Given the description of an element on the screen output the (x, y) to click on. 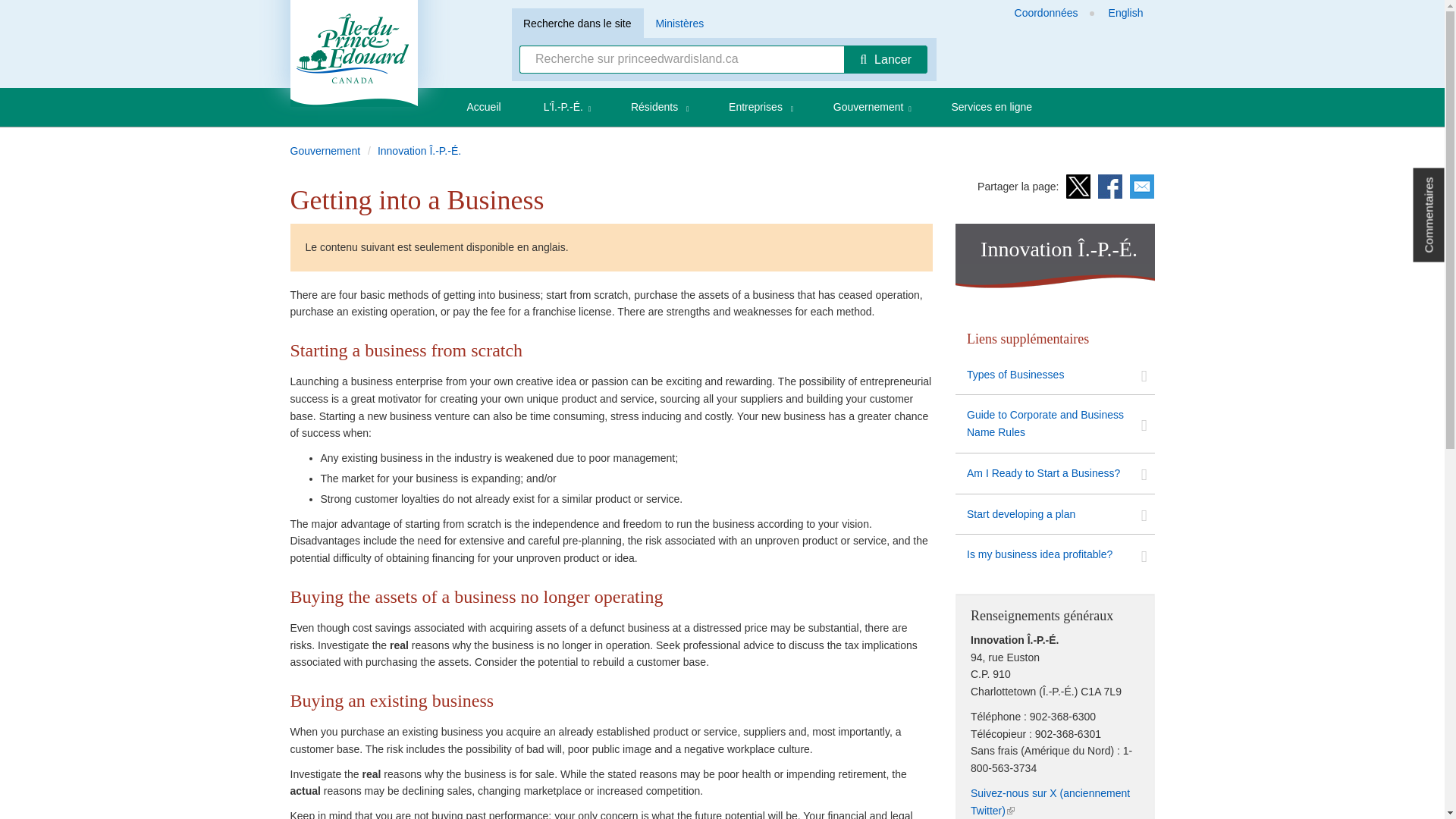
Partagez cette page via Facebook (1109, 186)
Prince Edward Island (352, 53)
English (1125, 13)
Share this page on X (1077, 186)
